Given the description of an element on the screen output the (x, y) to click on. 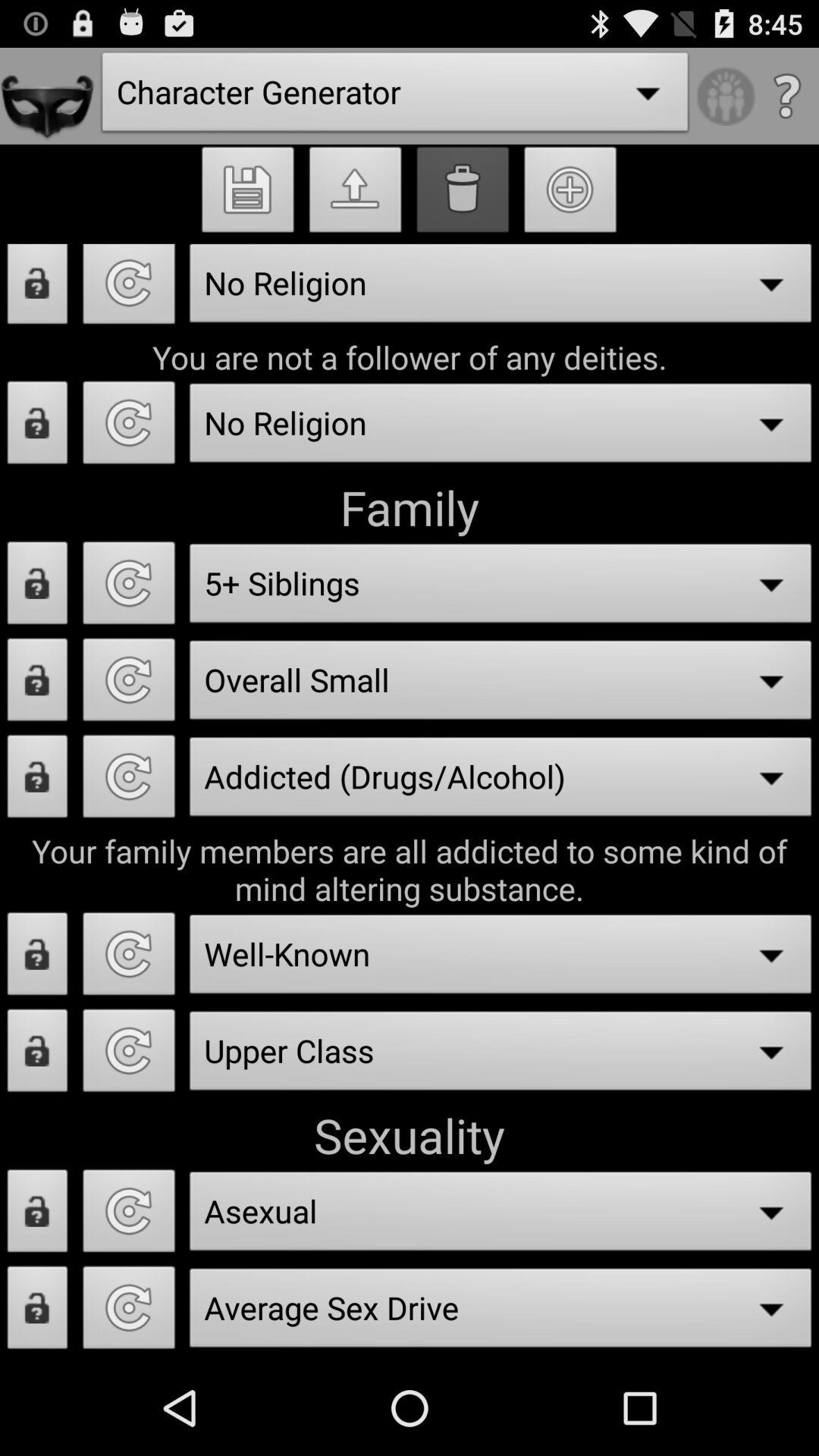
randomize family trait (129, 780)
